Given the description of an element on the screen output the (x, y) to click on. 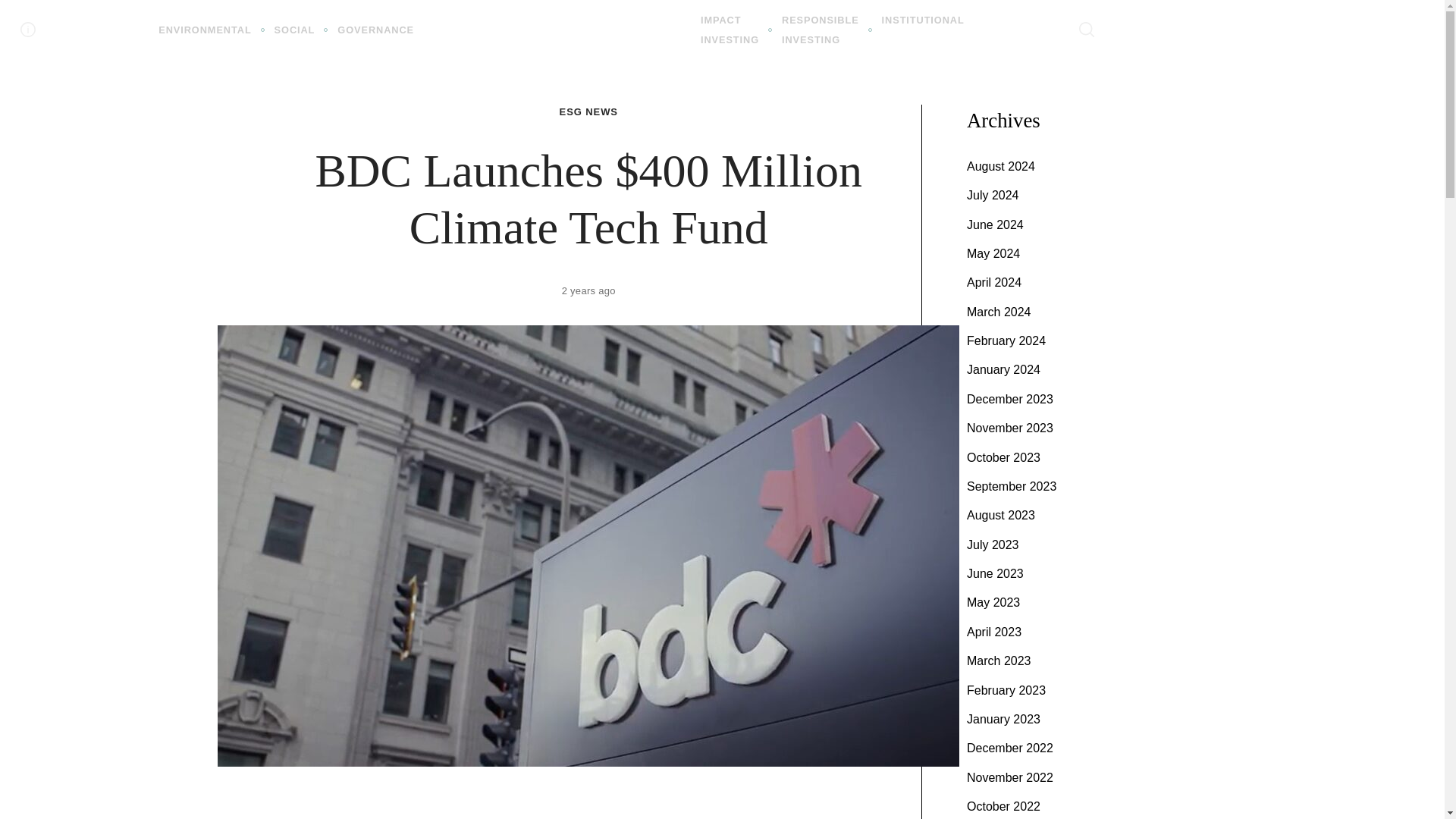
SOCIAL (295, 30)
ESG INVESTING (557, 28)
GOVERNANCE (375, 30)
INSTITUTIONAL (922, 19)
ESG NEWS (588, 112)
ENVIRONMENTAL (820, 29)
